Given the description of an element on the screen output the (x, y) to click on. 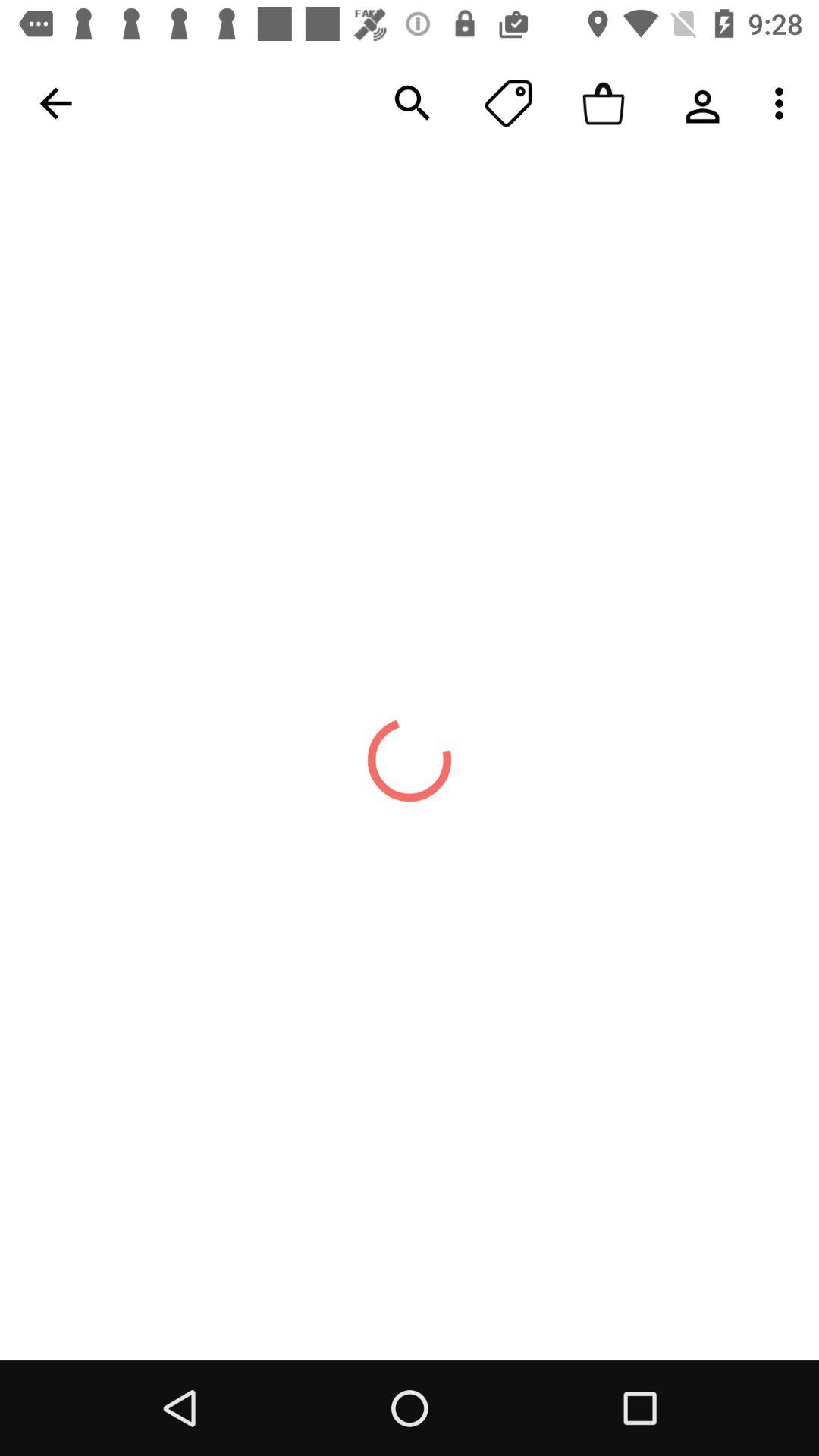
click on the third icon (603, 103)
click on the profile button (699, 103)
click the search button on the web page (413, 103)
select the last button in the menu bar (783, 103)
